Given the description of an element on the screen output the (x, y) to click on. 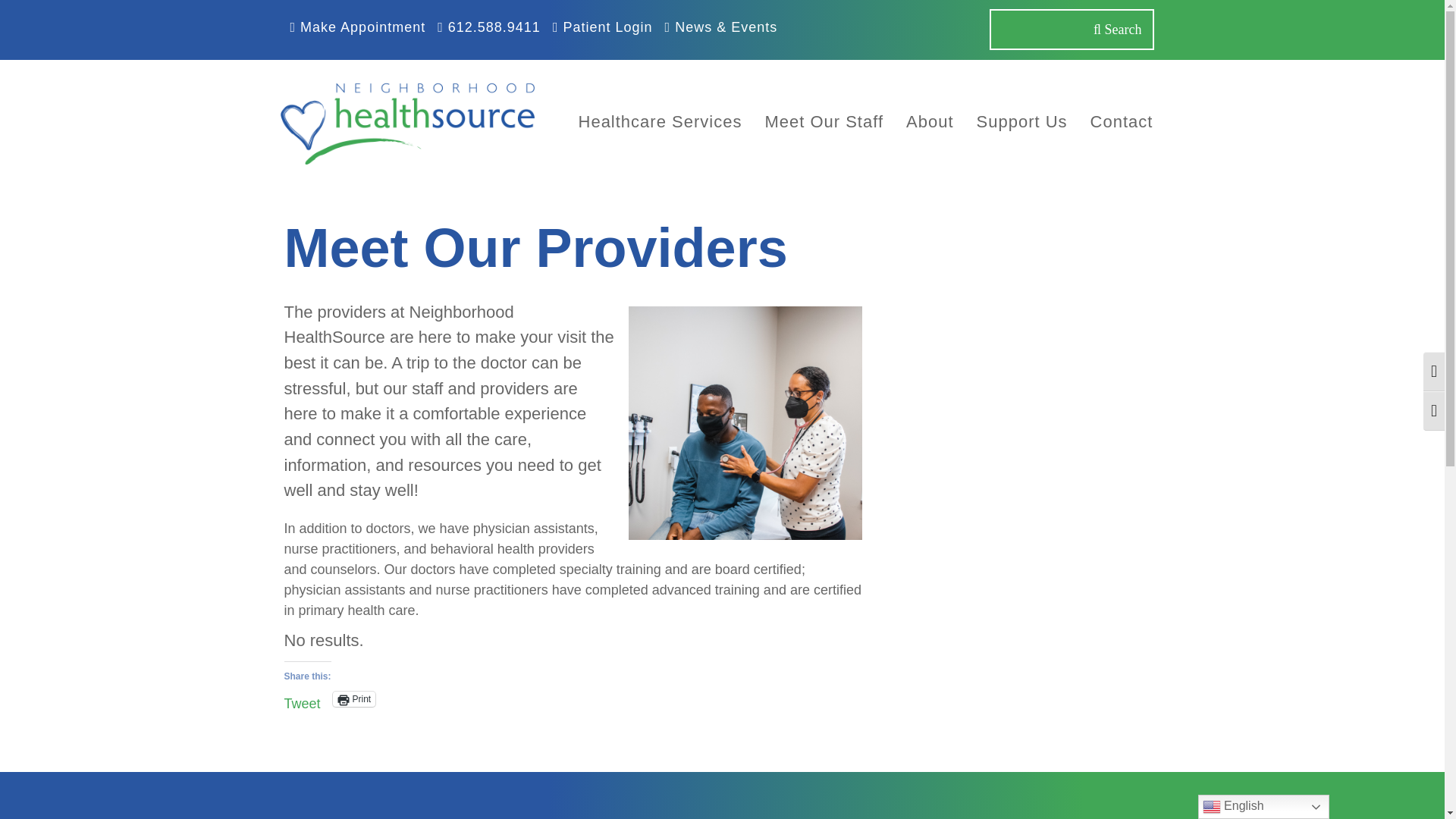
Patient Login (603, 27)
Make Appointment (356, 27)
Contact (1121, 121)
About (930, 121)
Meet Our Staff (823, 121)
Support Us (1021, 121)
612.588.9411 (488, 27)
Healthcare Services (660, 121)
